Given the description of an element on the screen output the (x, y) to click on. 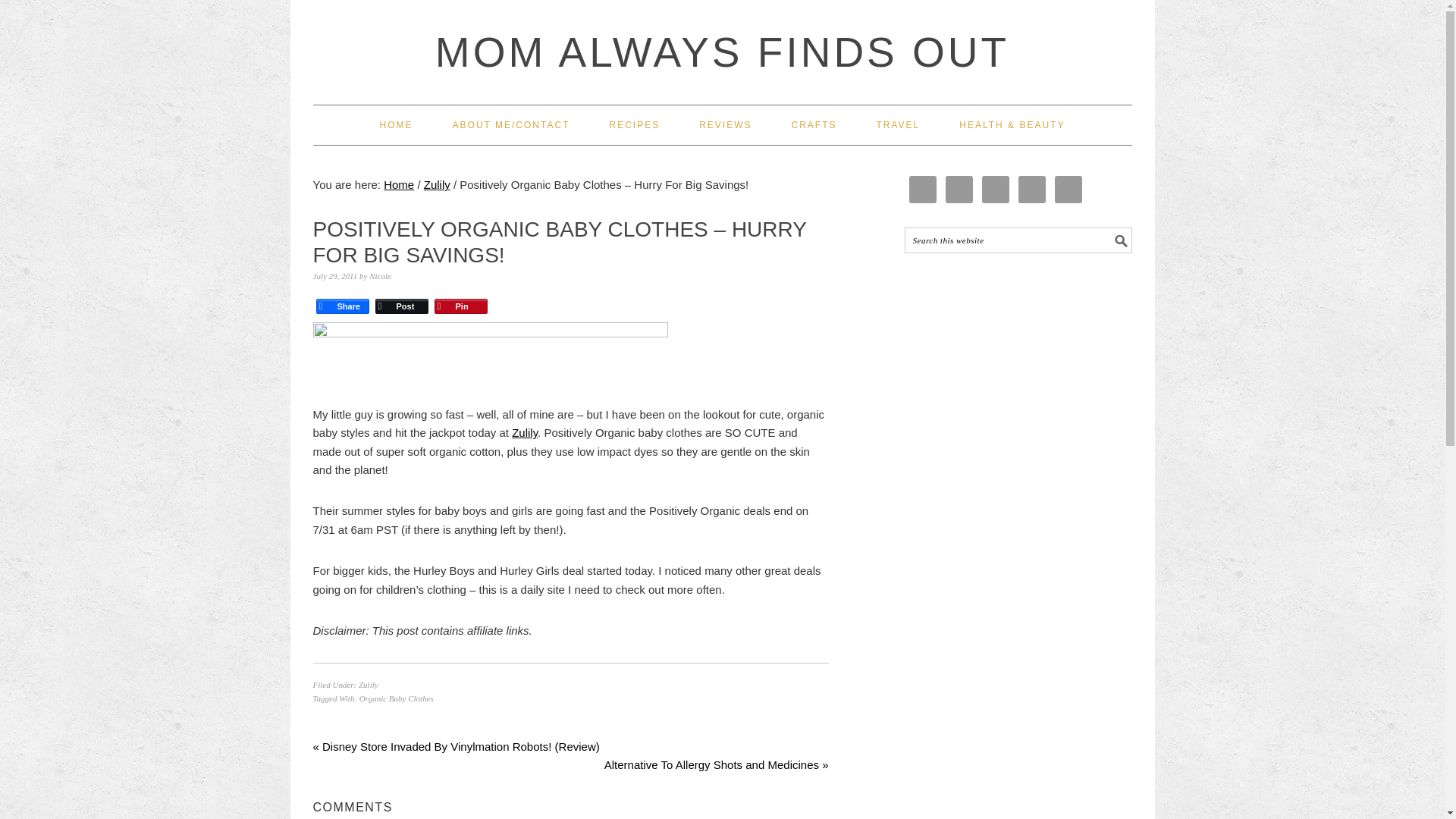
Organic Baby Clothes (396, 697)
TRAVEL (898, 124)
Zulily (524, 431)
CRAFTS (813, 124)
Home (398, 184)
Zulily (436, 184)
REVIEWS (724, 124)
